Given the description of an element on the screen output the (x, y) to click on. 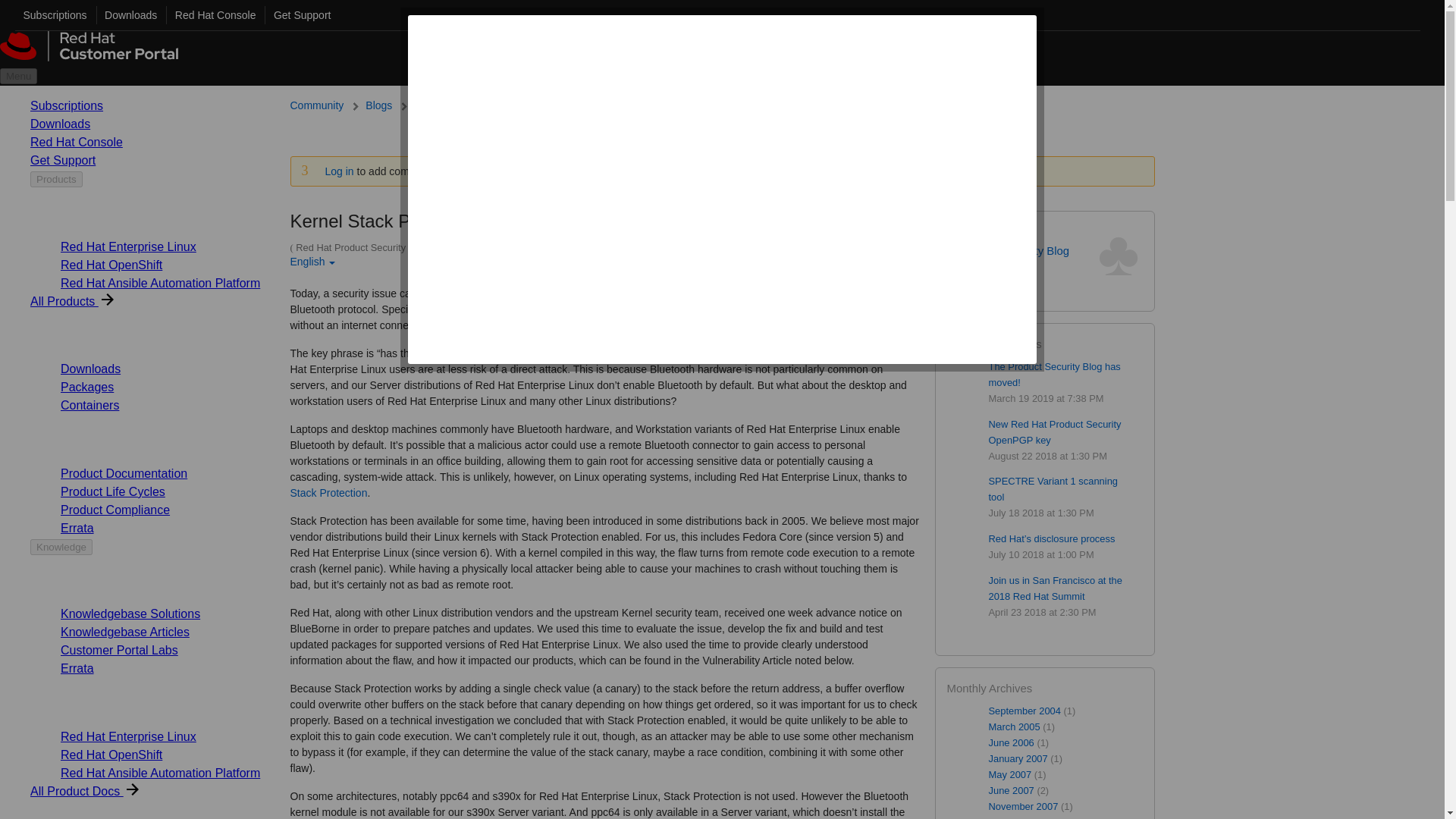
3pmrc7 19 2019 pmt 7:38 P3 (1045, 398)
Red Hat Security Blog (1014, 250)
Subscriptions (50, 14)
Red Hat Console (210, 14)
Get Support (297, 14)
02pt251b2r 12 2017 amt 11:51 AM9 (536, 247)
03pt336b3r 13 2017 pmt 1:36 P9 (734, 247)
Downloads (126, 14)
